Given the description of an element on the screen output the (x, y) to click on. 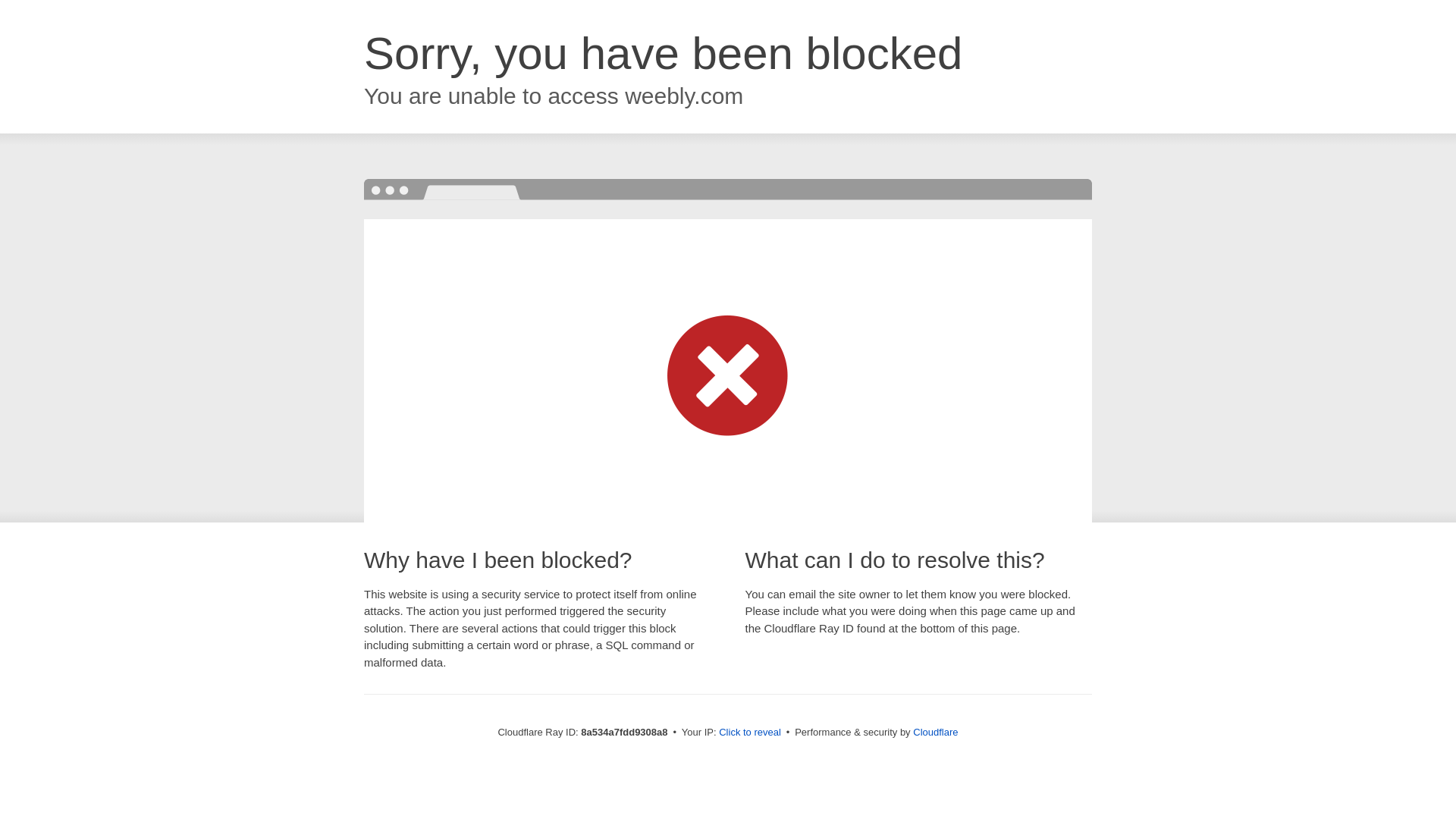
Click to reveal (749, 732)
Cloudflare (935, 731)
